Given the description of an element on the screen output the (x, y) to click on. 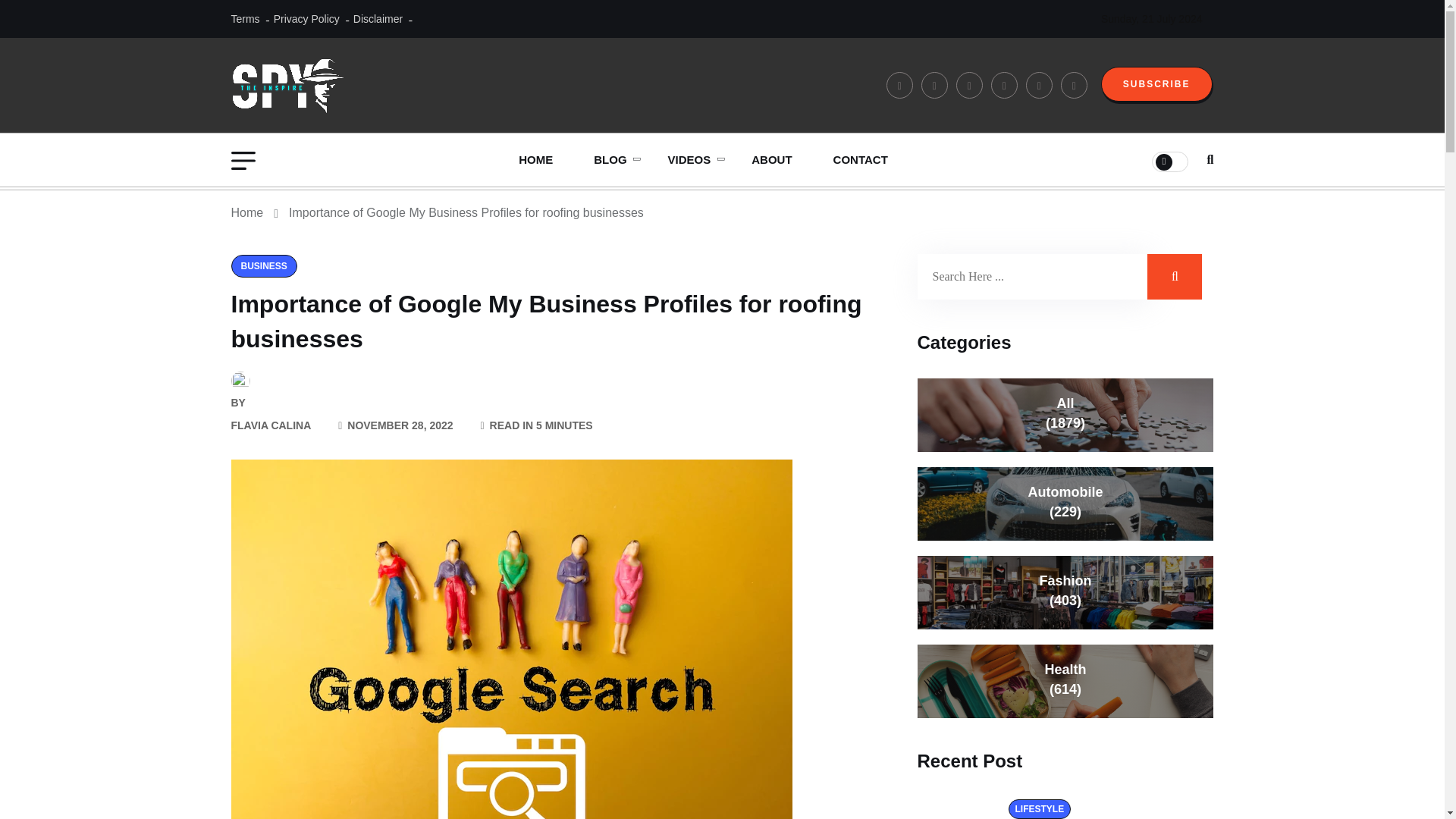
on (1169, 161)
Disclaimer (378, 18)
Privacy Policy (306, 18)
ABOUT (771, 159)
VIDEOS (689, 159)
SUBSCRIBE (1156, 83)
HOME (535, 159)
CONTACT (860, 159)
Terms (244, 18)
TECHNOLOGY (669, 201)
BLOG (610, 159)
GURU RANDHAWA PRESS CONFERENCE (743, 212)
HONOR8 LAUNCH EVENT (743, 201)
